Given the description of an element on the screen output the (x, y) to click on. 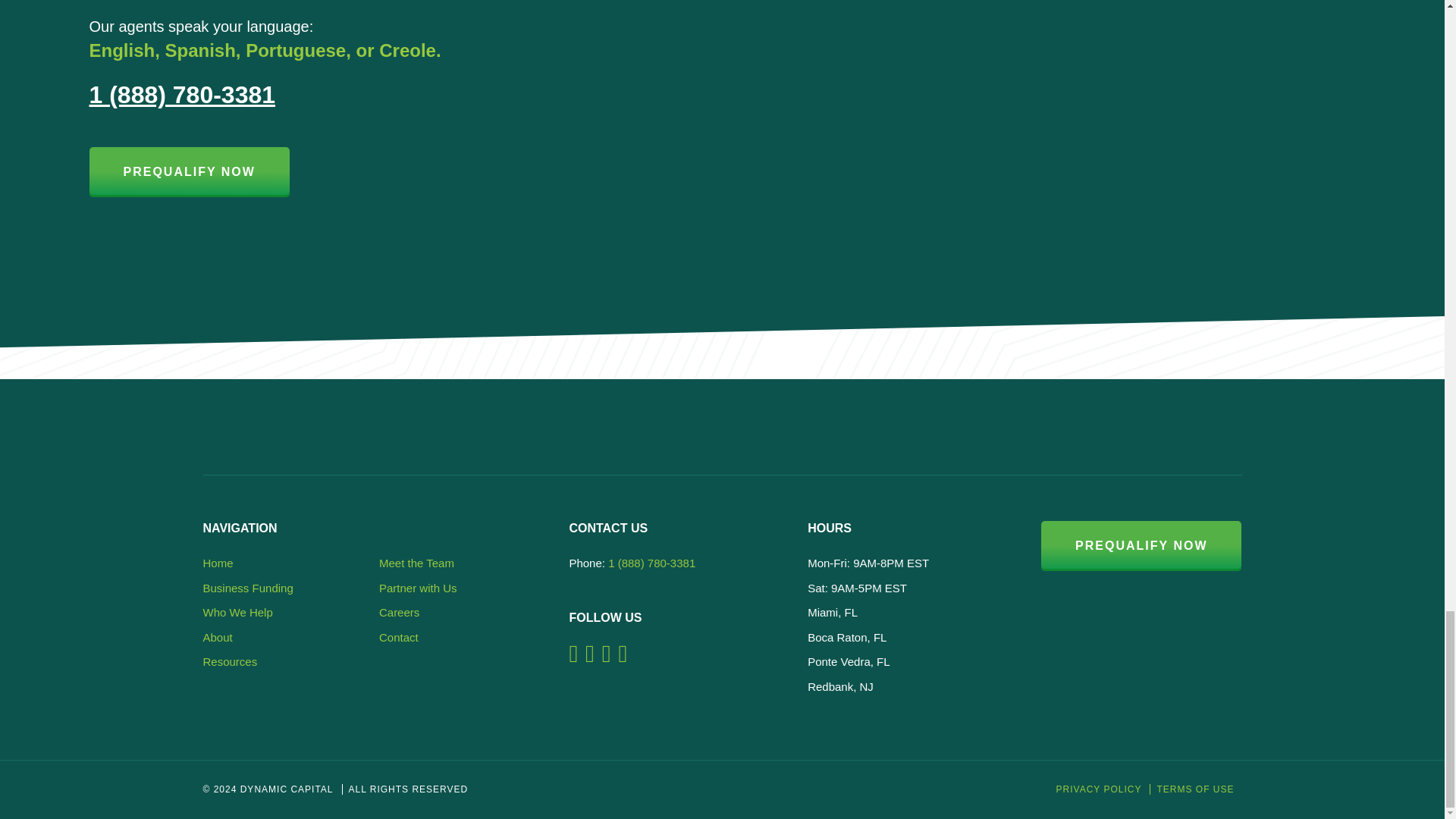
Home (217, 562)
Dynamic Capital (327, 435)
Business Funding (248, 587)
PREQUALIFY NOW (188, 172)
